Given the description of an element on the screen output the (x, y) to click on. 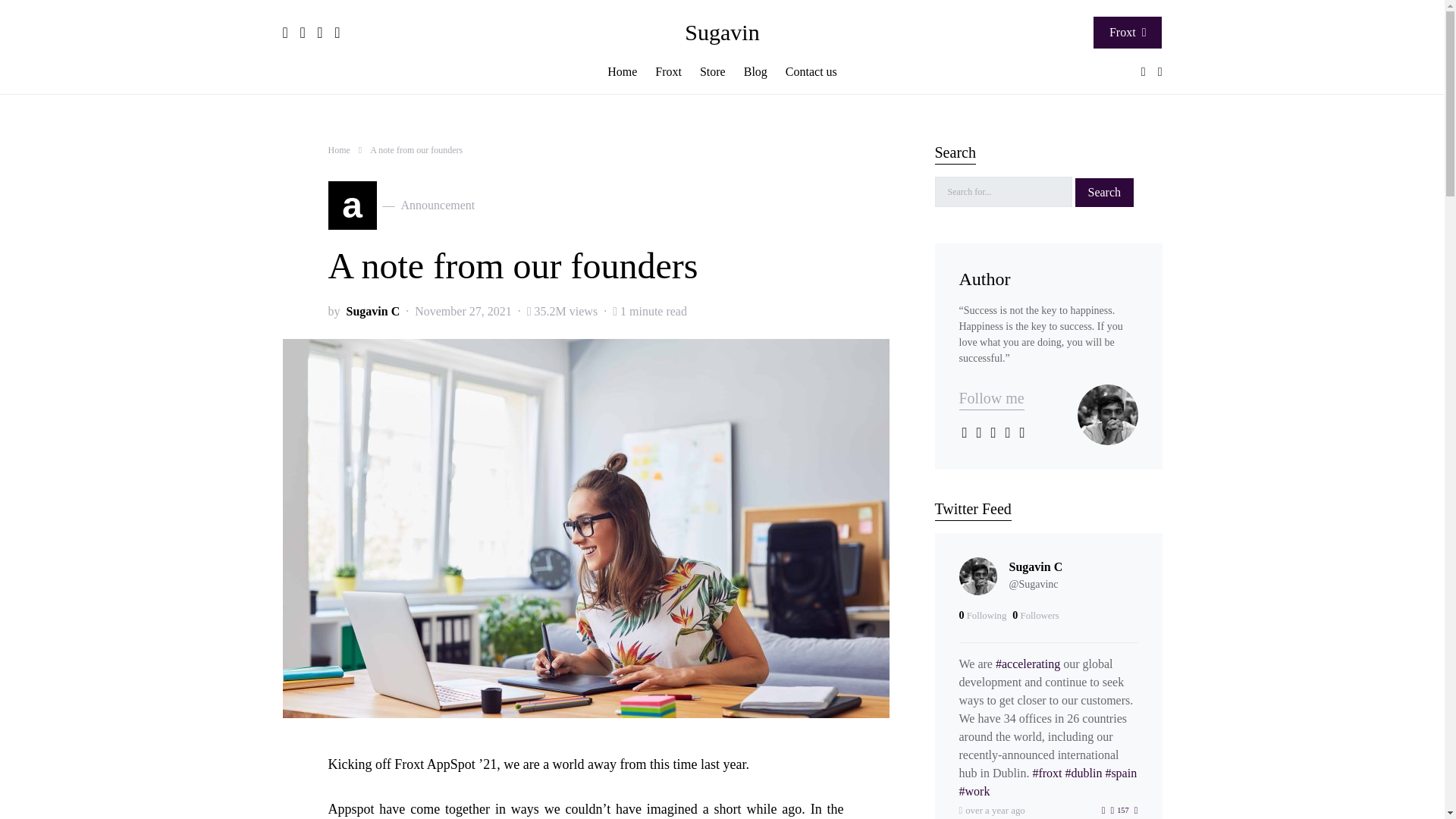
Store (712, 71)
Froxt (668, 71)
View all posts by Sugavin C (372, 311)
Search (1104, 191)
Search for... (1002, 191)
Sugavin C (372, 311)
Blog (755, 71)
Home (338, 149)
Froxt (1127, 32)
